Given the description of an element on the screen output the (x, y) to click on. 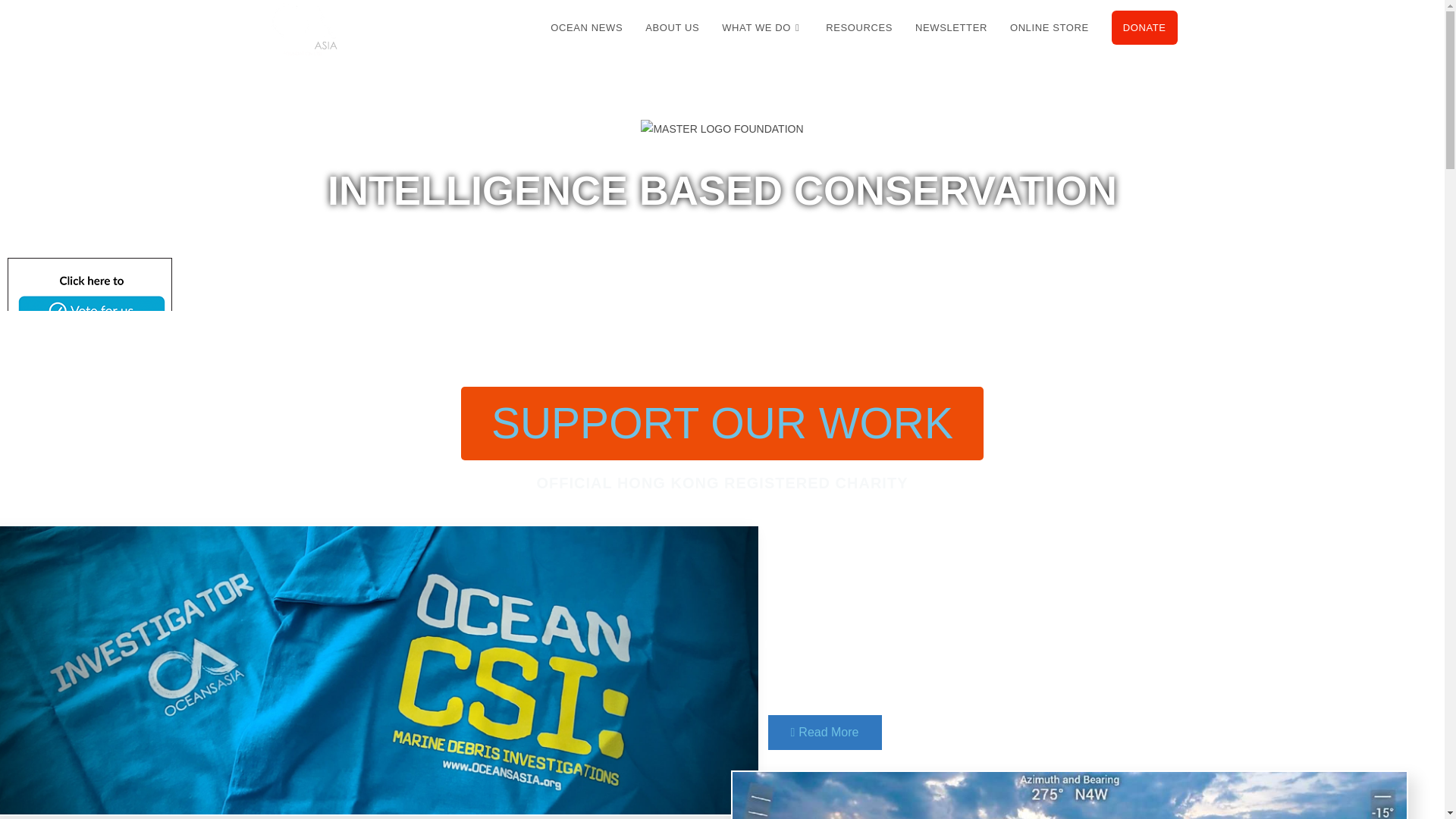
ABOUT US (671, 28)
MASTER LOGO FOUNDATION (721, 128)
WHAT WE DO (761, 28)
RESOURCES (858, 28)
ONLINE STORE (1049, 28)
NEWSLETTER (951, 28)
OCEAN NEWS (585, 28)
DONATE (1144, 28)
